Given the description of an element on the screen output the (x, y) to click on. 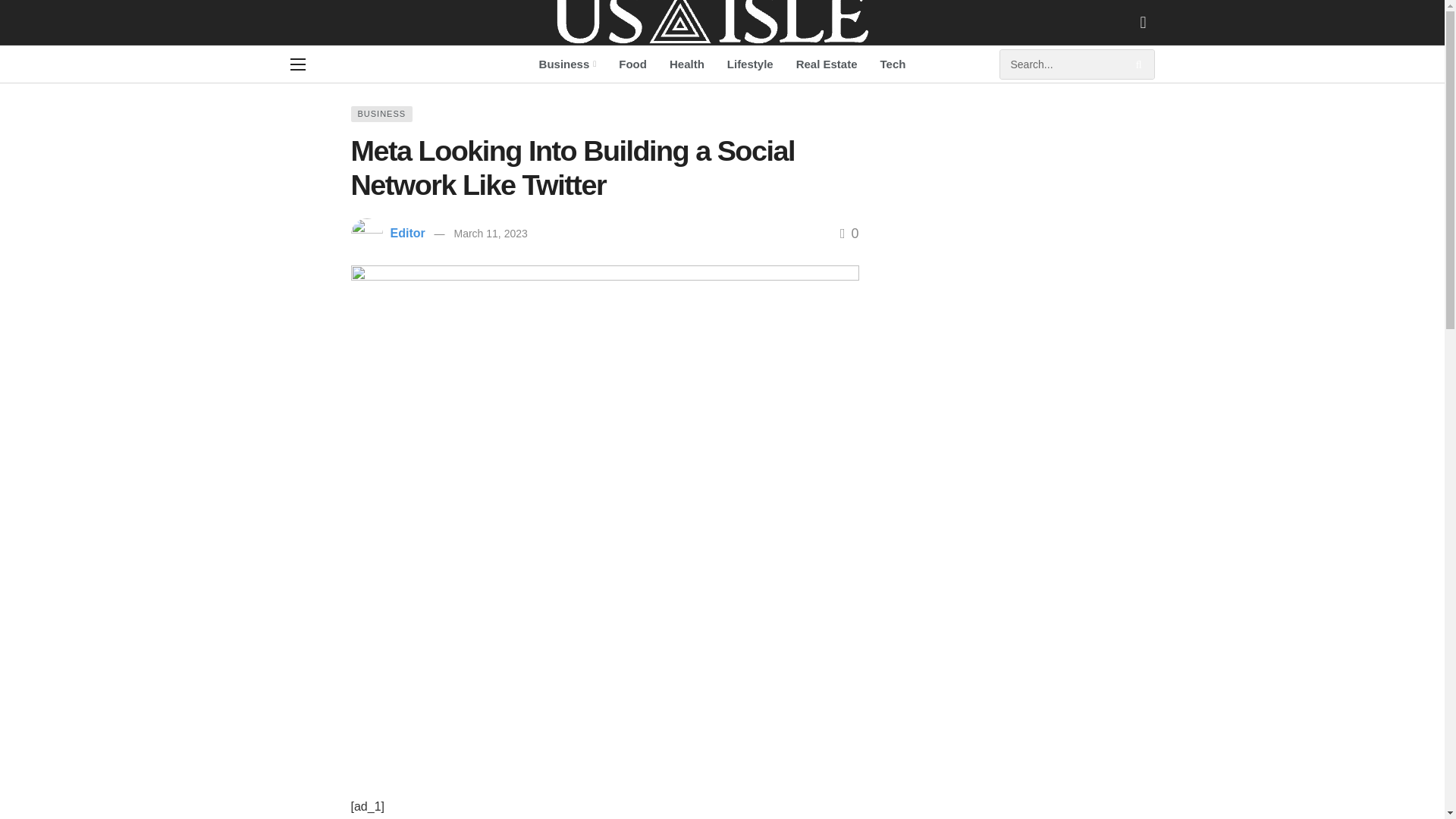
Lifestyle (750, 63)
Food (632, 63)
BUSINESS (381, 114)
Real Estate (826, 63)
Editor (407, 232)
Tech (893, 63)
March 11, 2023 (489, 233)
0 (849, 233)
Health (687, 63)
Business (567, 63)
